Given the description of an element on the screen output the (x, y) to click on. 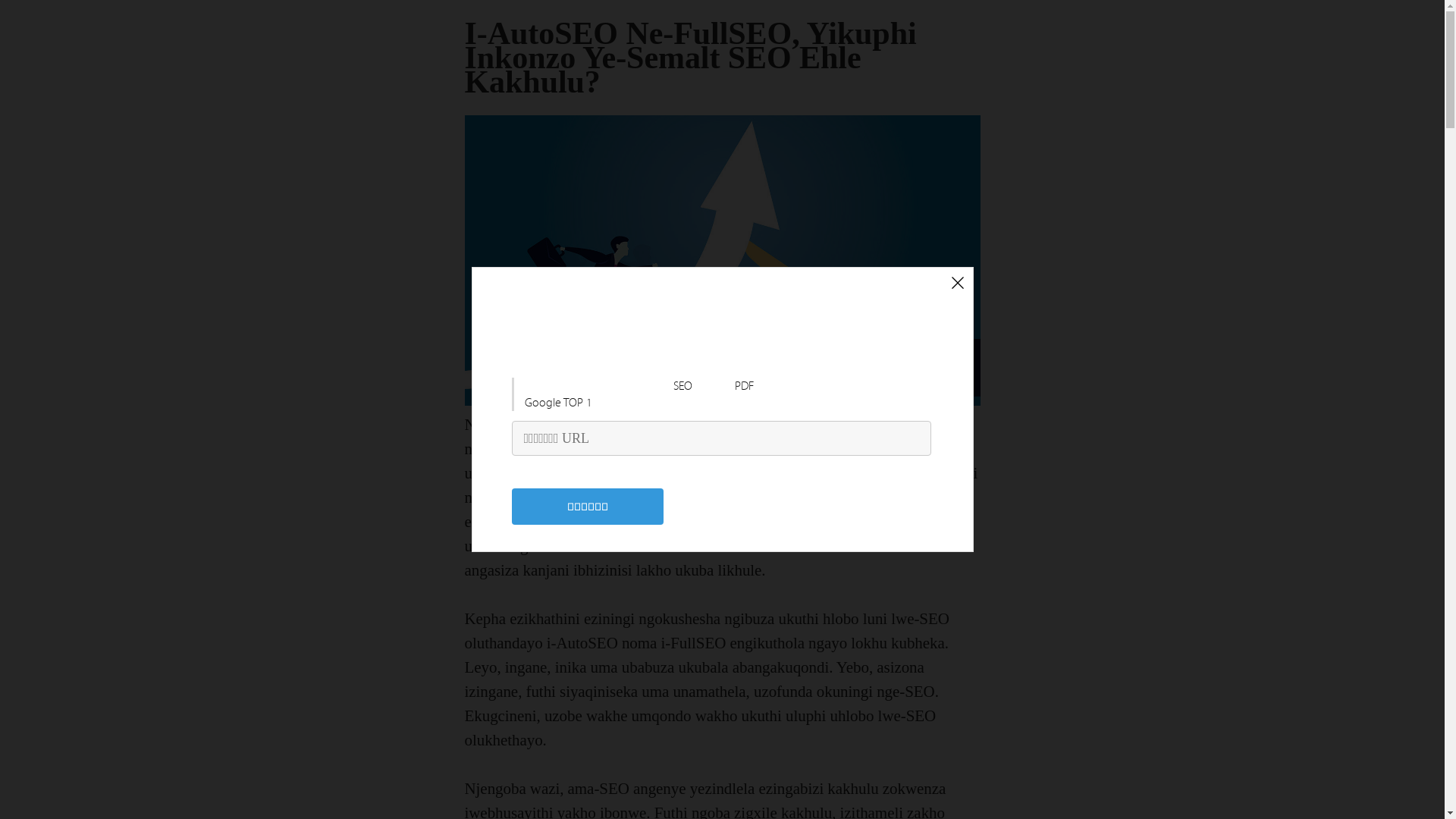
lapha Element type: text (901, 521)
